Given the description of an element on the screen output the (x, y) to click on. 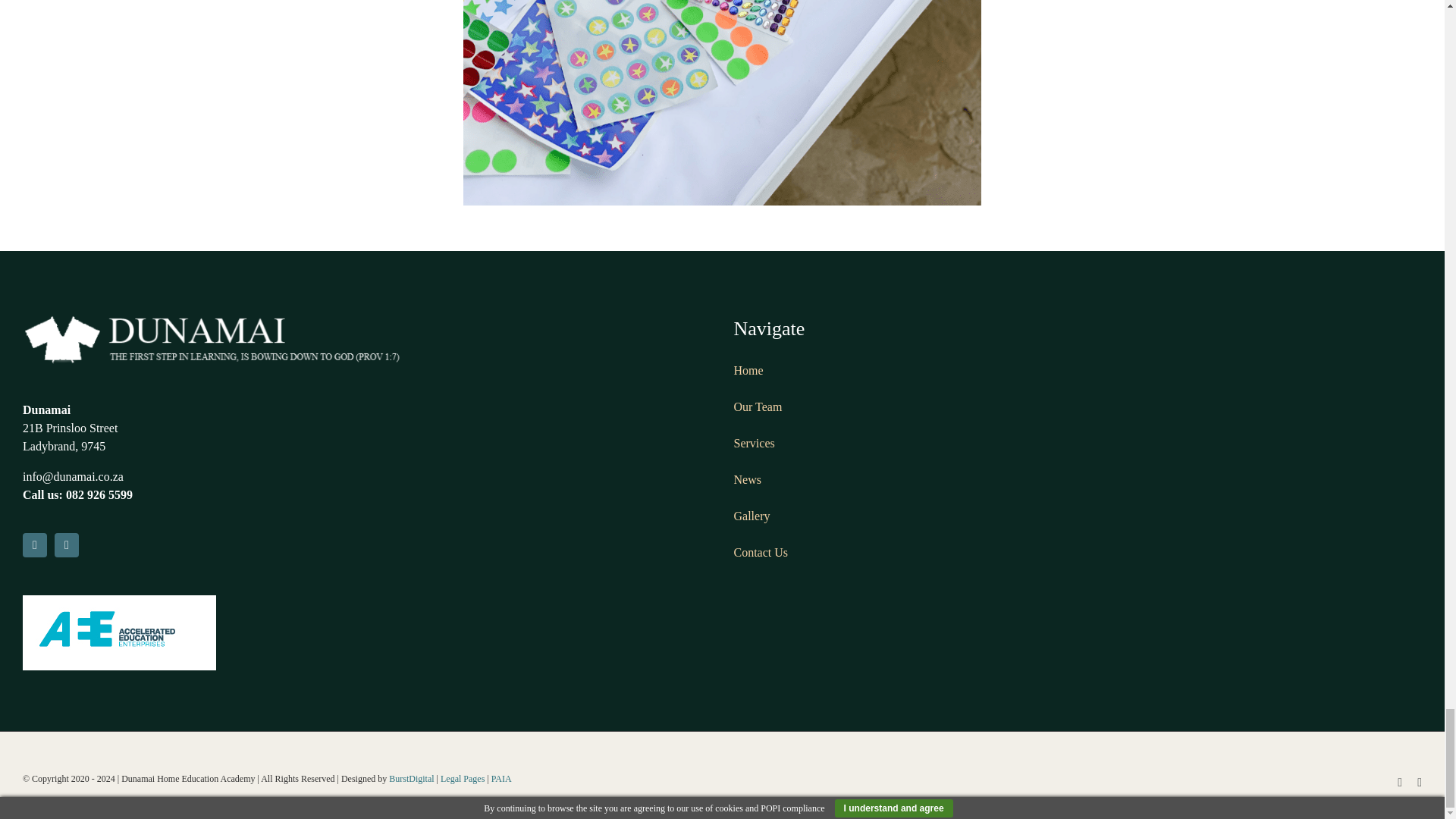
Home (747, 369)
Gallery (751, 515)
News (747, 479)
Contact Us (761, 552)
Services (753, 442)
Legal Pages (462, 778)
WhiteLogo (212, 338)
BurstDigital (410, 778)
PAIA (502, 778)
Our Team (758, 406)
